Given the description of an element on the screen output the (x, y) to click on. 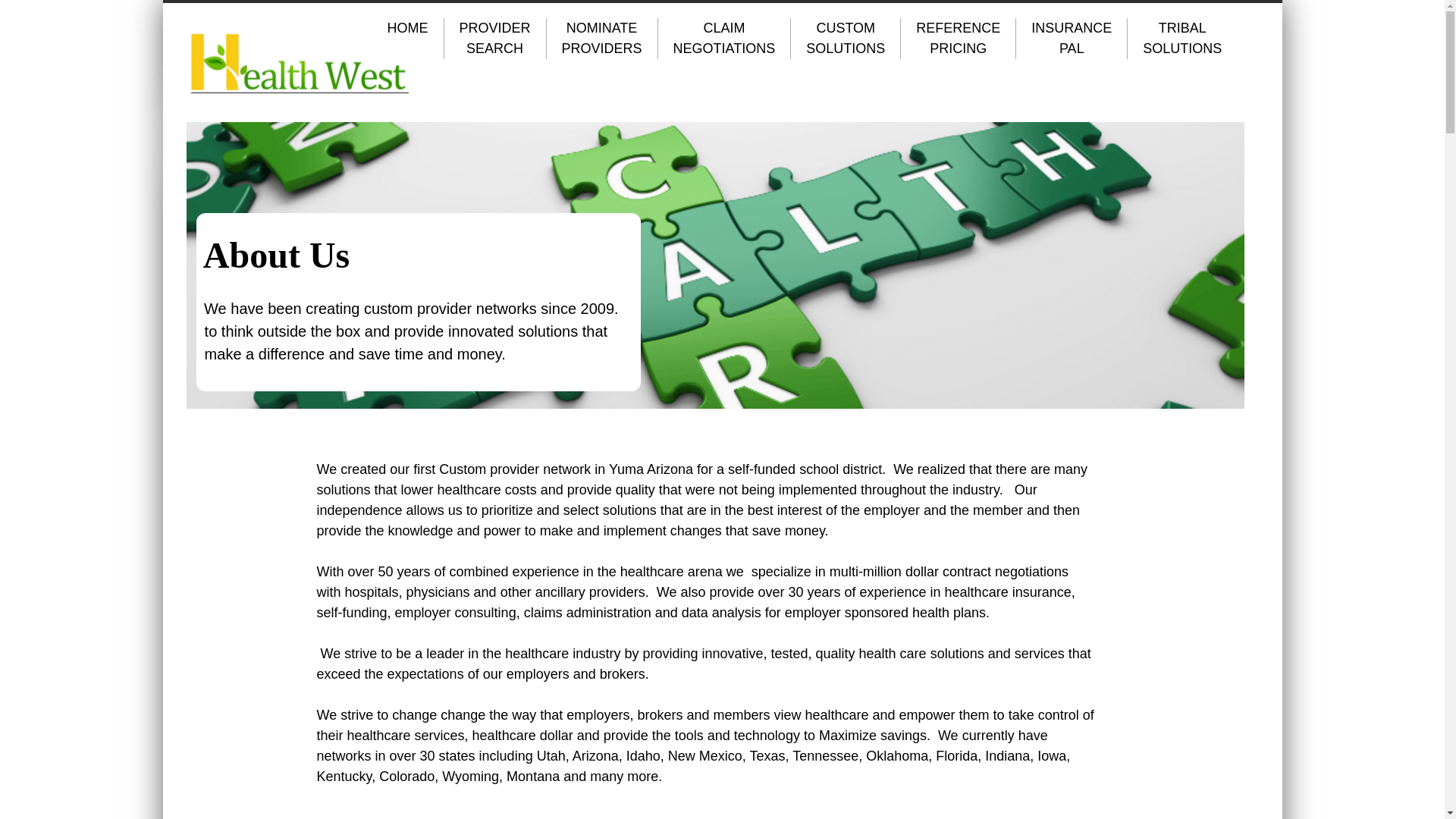
Centered Popup (38, 6)
